Given the description of an element on the screen output the (x, y) to click on. 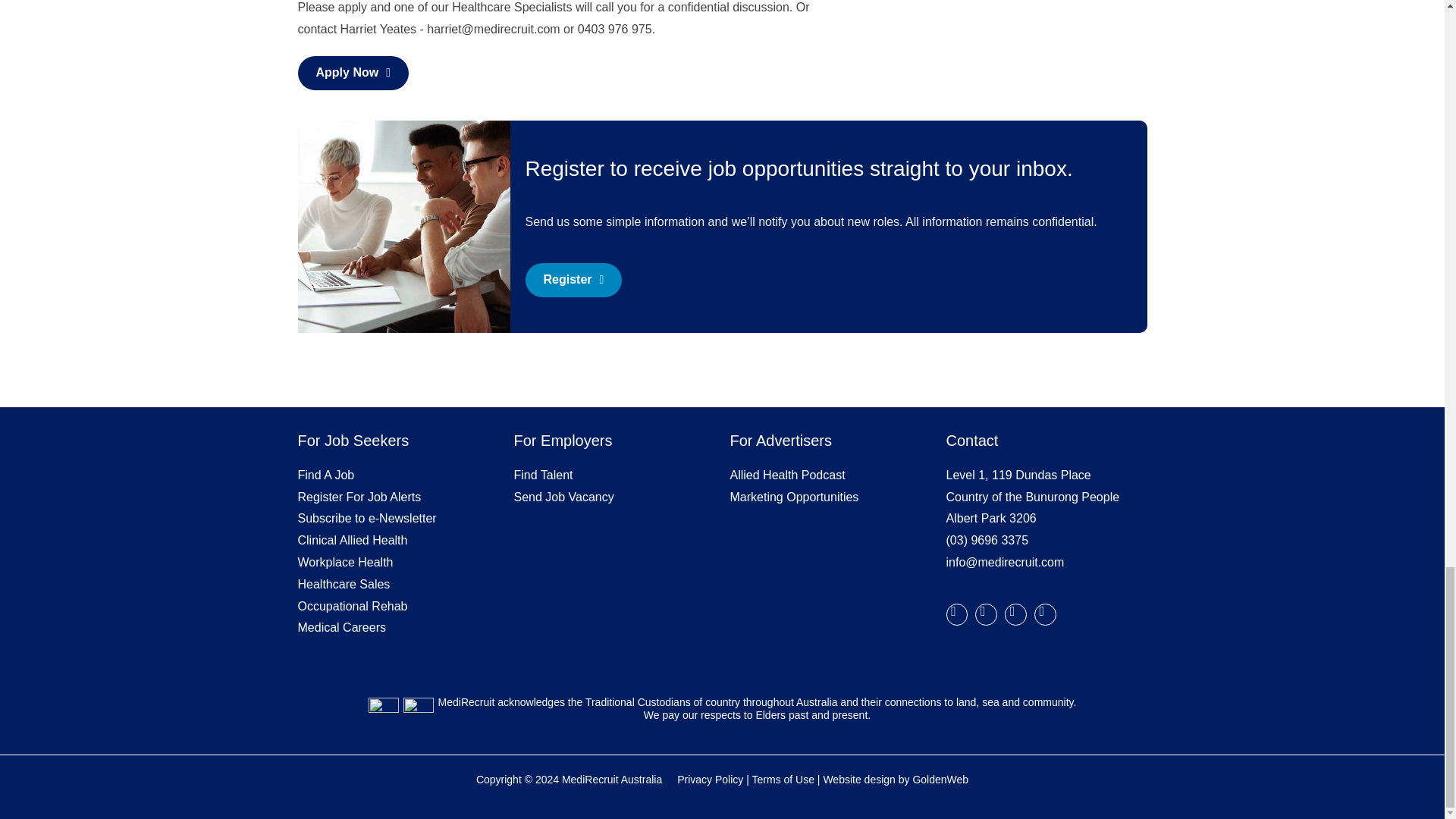
Register For Job Alerts (358, 496)
Clinical Allied Health (352, 540)
Medical Careers  (342, 626)
Marketing Opportunities (794, 496)
Register (572, 279)
Workplace Health (345, 562)
Find Talent (543, 474)
Occupational Rehab (352, 605)
Apply Now (353, 73)
Subscribe to e-Newsletter (366, 517)
Send Job Vacancy (563, 496)
Find A Job (325, 474)
Allied Health Podcast (786, 474)
Healthcare Sales (343, 584)
